Given the description of an element on the screen output the (x, y) to click on. 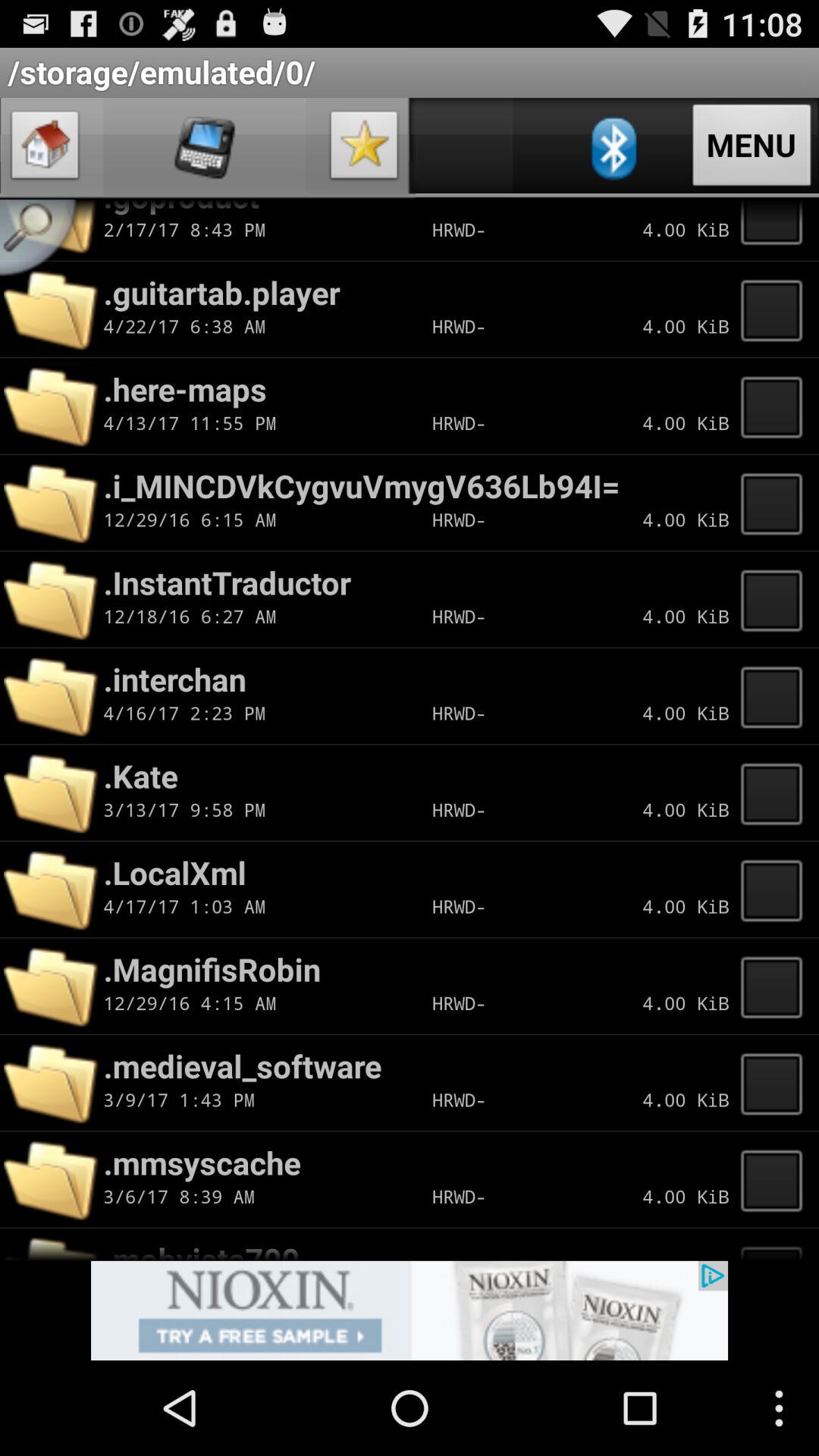
search box (43, 243)
